Given the description of an element on the screen output the (x, y) to click on. 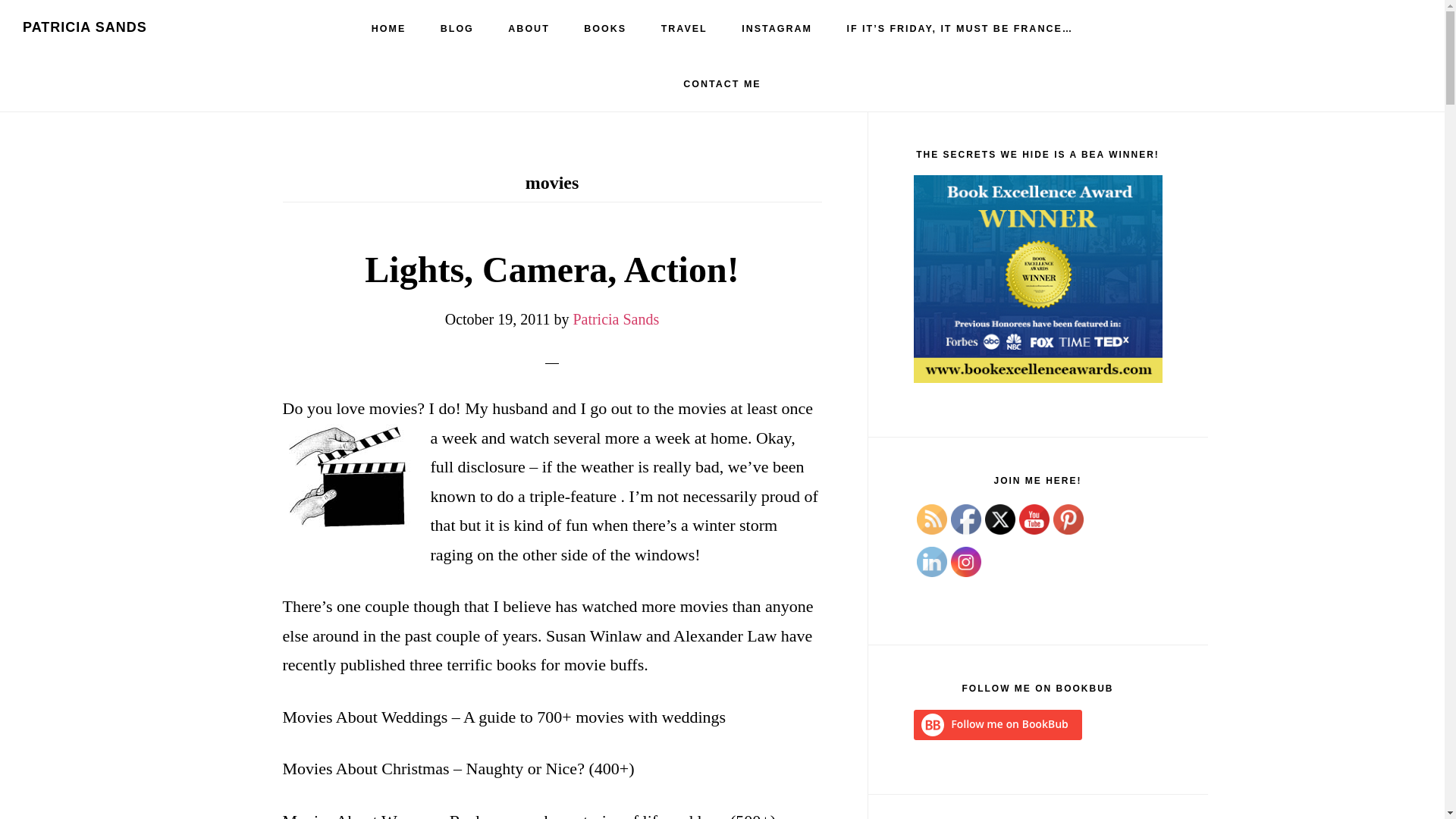
BLOG (457, 28)
Patricia Sands (615, 319)
BOOKS (605, 28)
TRAVEL (684, 28)
Pinterest (1067, 519)
Twitter (999, 519)
INSTAGRAM (776, 28)
clapboard-snapped (348, 480)
YouTube (1034, 519)
